Given the description of an element on the screen output the (x, y) to click on. 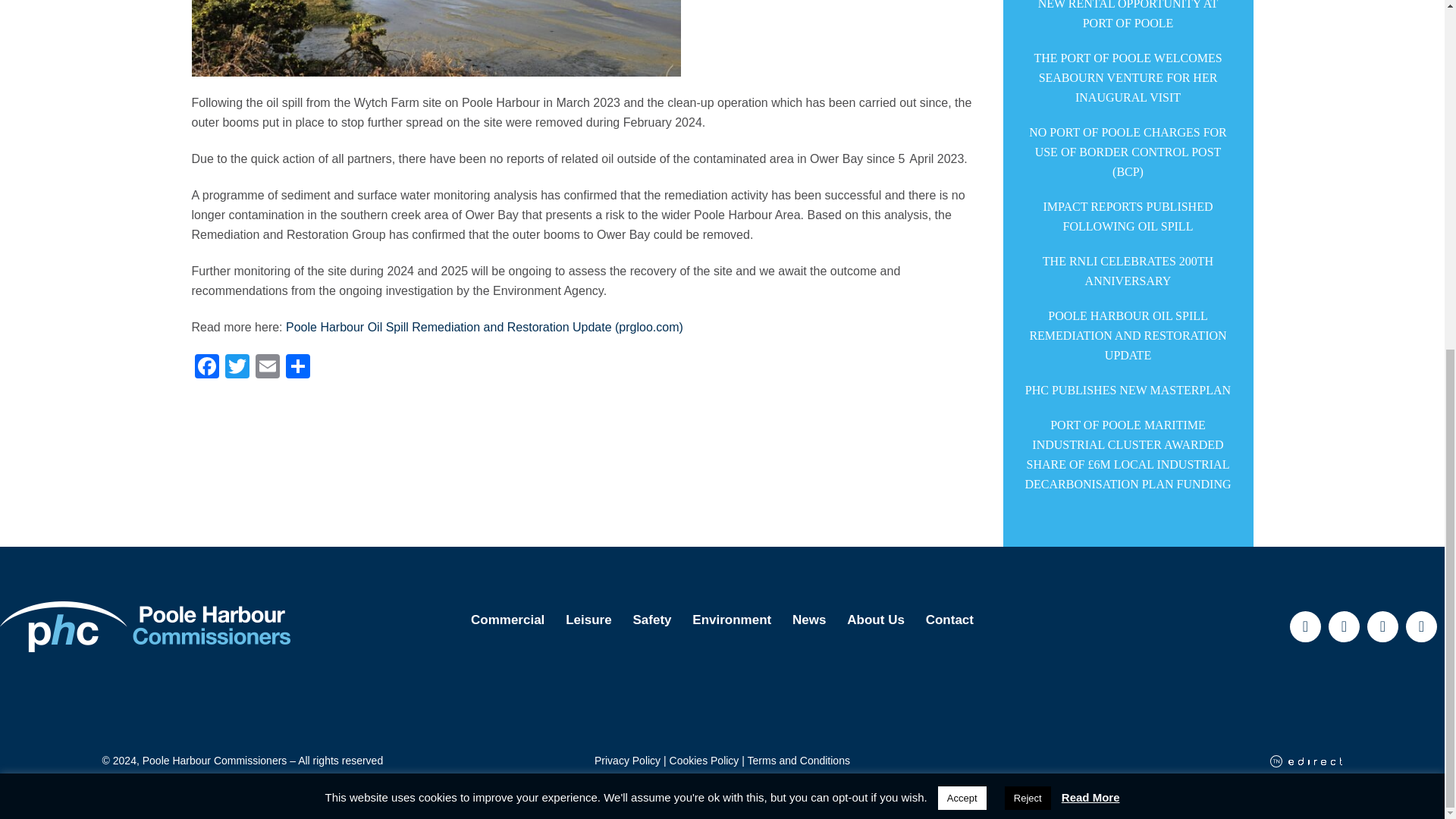
Facebook (205, 367)
Email (266, 367)
Twitter (236, 367)
